Given the description of an element on the screen output the (x, y) to click on. 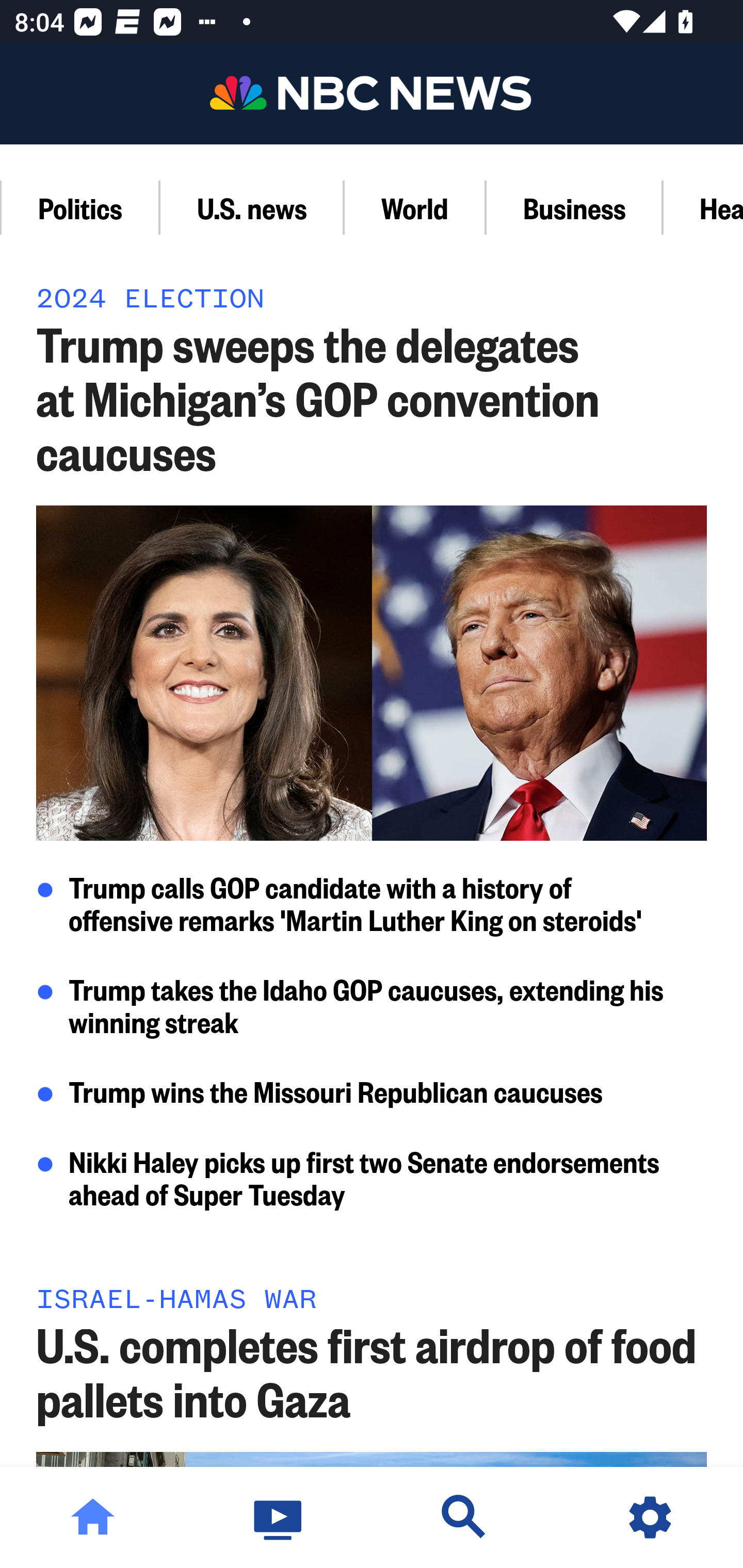
Politics Section,Politics (80, 207)
U.S. news Section,U.S. news (252, 207)
World Section,World (415, 207)
Business Section,Business (574, 207)
Watch (278, 1517)
Discover (464, 1517)
Settings (650, 1517)
